Given the description of an element on the screen output the (x, y) to click on. 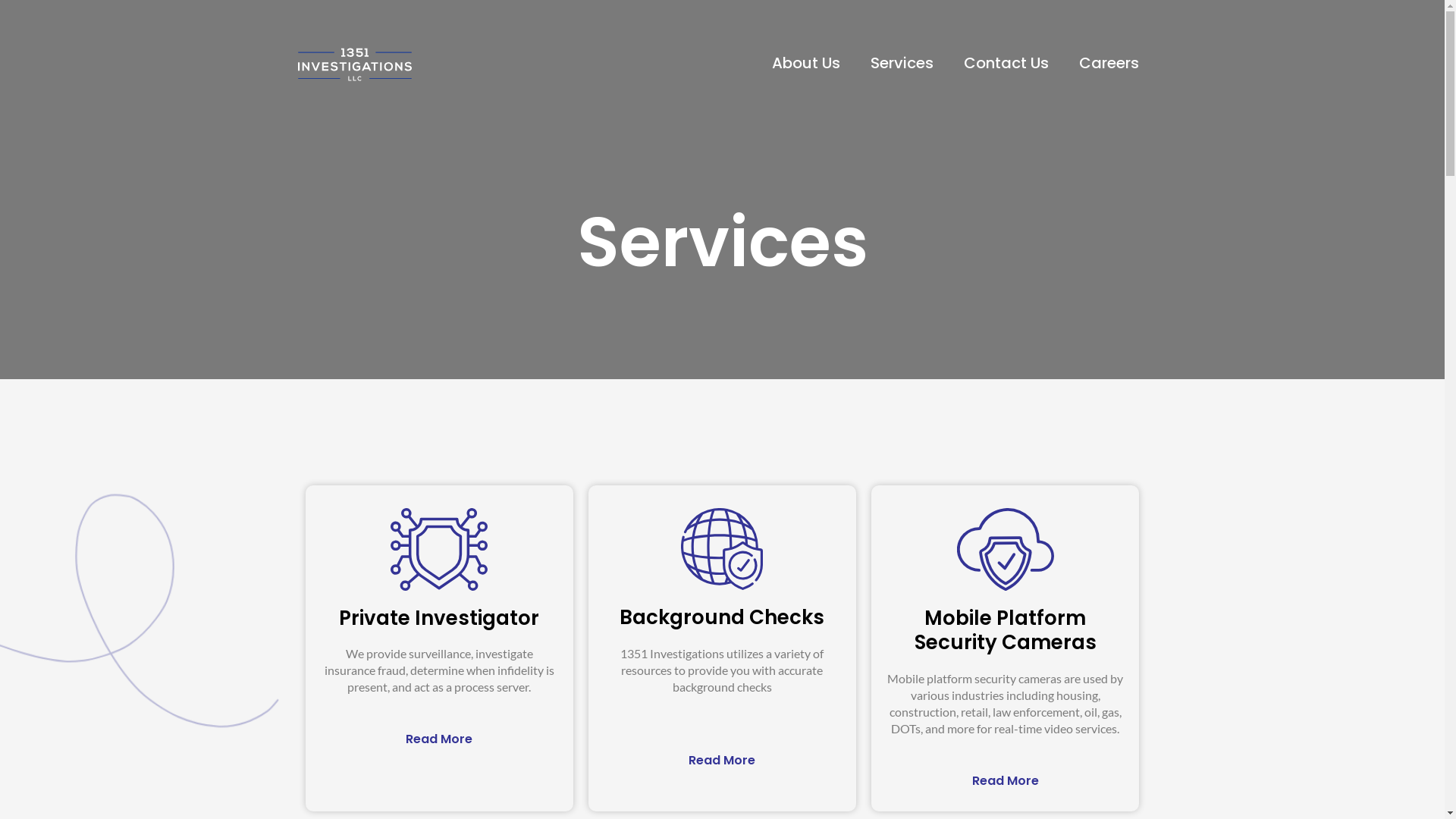
Read More Element type: text (1005, 780)
Read More Element type: text (438, 738)
Careers Element type: text (1108, 62)
Read More Element type: text (721, 759)
Services Element type: text (901, 62)
About Us Element type: text (805, 62)
Contact Us Element type: text (1005, 62)
